Given the description of an element on the screen output the (x, y) to click on. 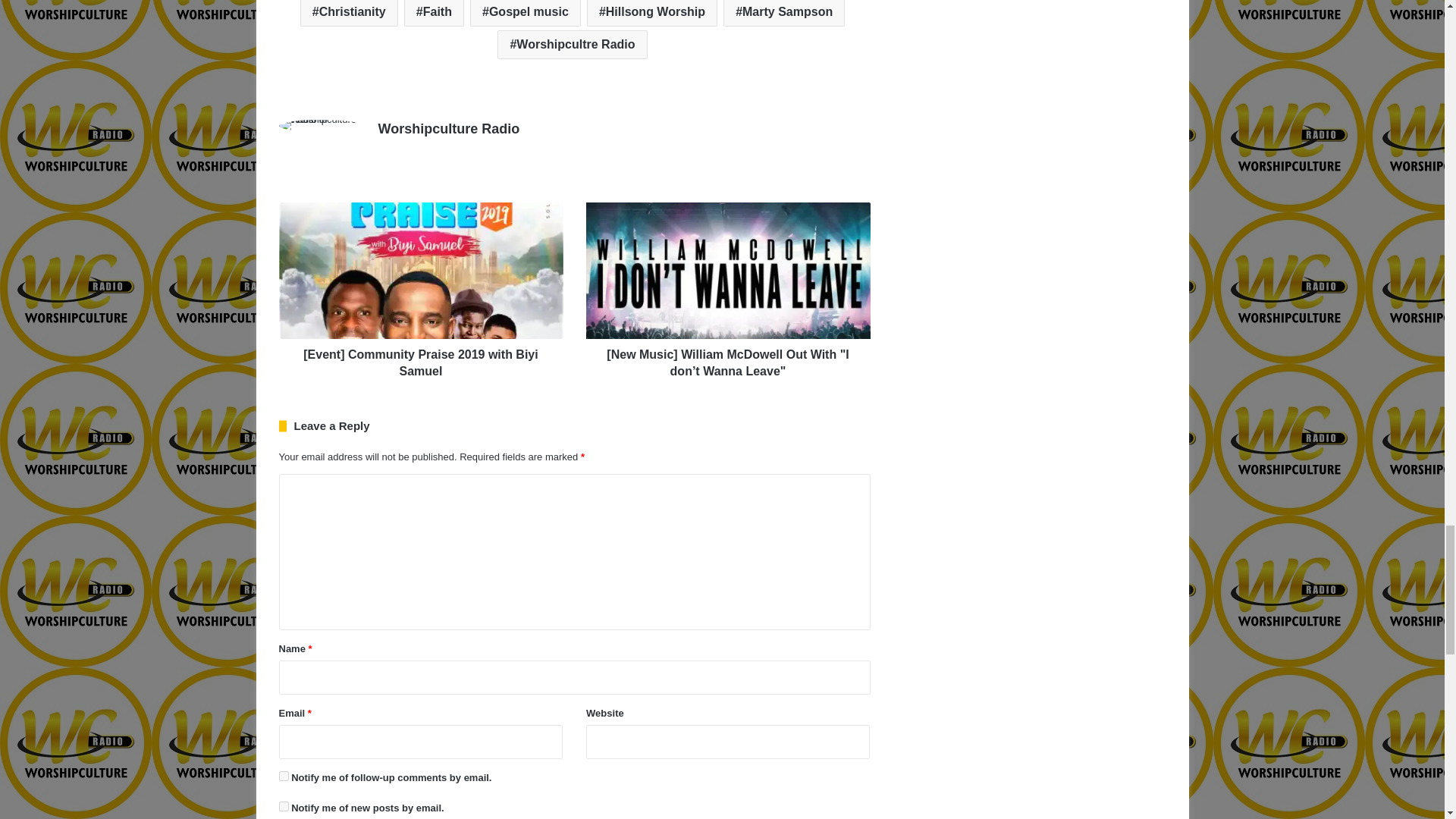
Hillsong Worship (651, 13)
Christianity (348, 13)
Gospel music (525, 13)
Faith (434, 13)
subscribe (283, 806)
subscribe (283, 776)
Worshipcultre Radio (571, 44)
Marty Sampson (783, 13)
